Given the description of an element on the screen output the (x, y) to click on. 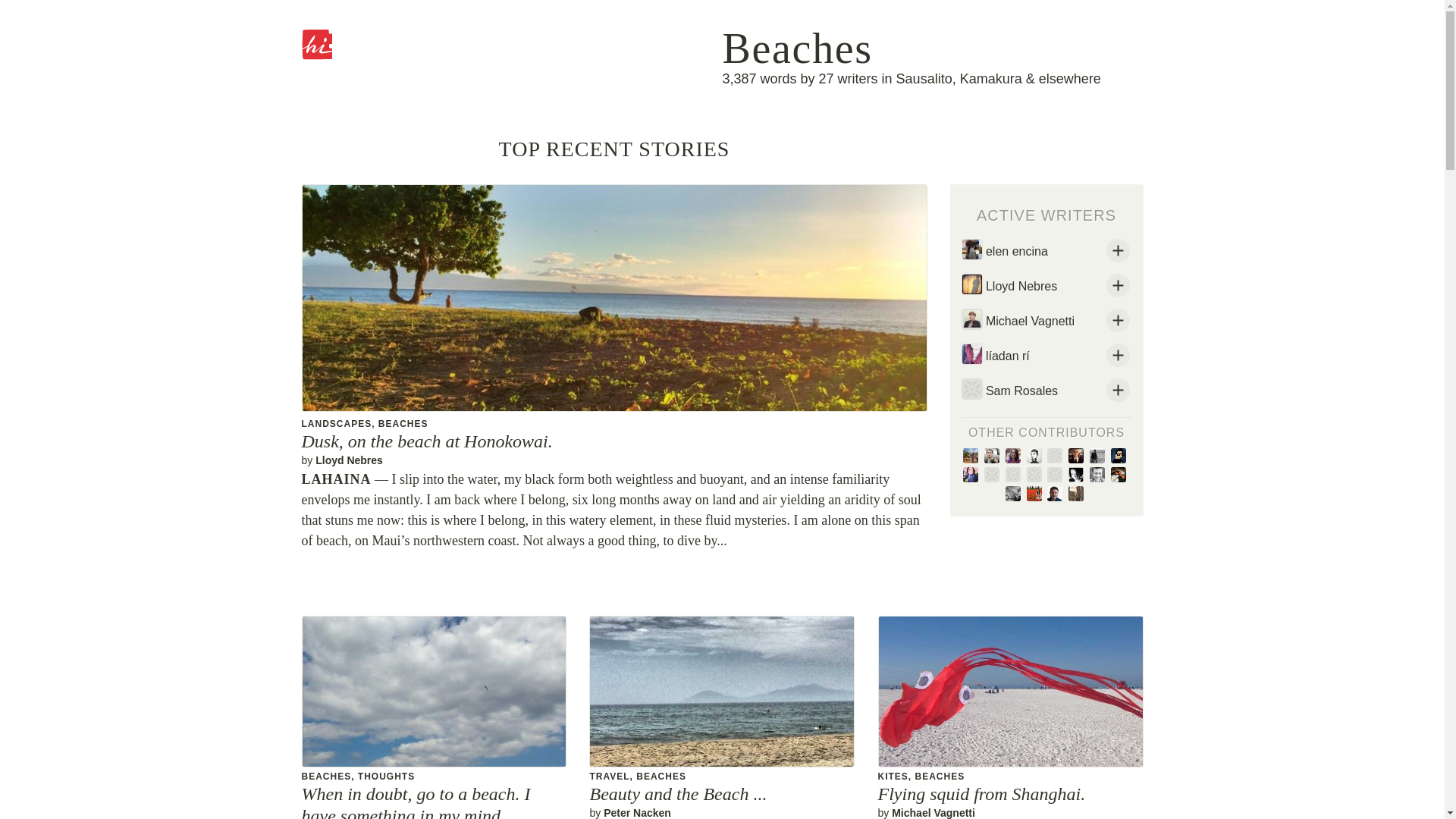
Wes Mallgren (995, 475)
David Wade Chambers (1077, 494)
elen encina (1046, 252)
Peter Nacken (1016, 475)
Sam Rosales (1046, 391)
Chris Palmieri (1037, 456)
david theriault (1078, 456)
Apurva Desai (1119, 475)
Steve Dearden (1057, 494)
Dusk, on the beach at Honokowai. (427, 441)
Jo Chapman (1016, 494)
Anna Frejlev (1078, 475)
BEACHES (403, 423)
Taylor Davidson (1099, 475)
Grace Javier (1037, 494)
